Given the description of an element on the screen output the (x, y) to click on. 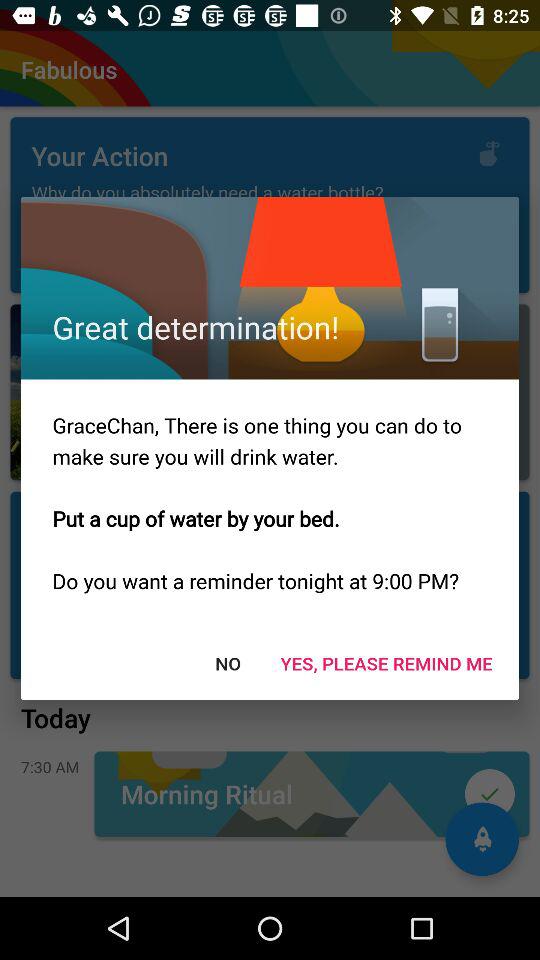
jump to the no item (228, 662)
